Given the description of an element on the screen output the (x, y) to click on. 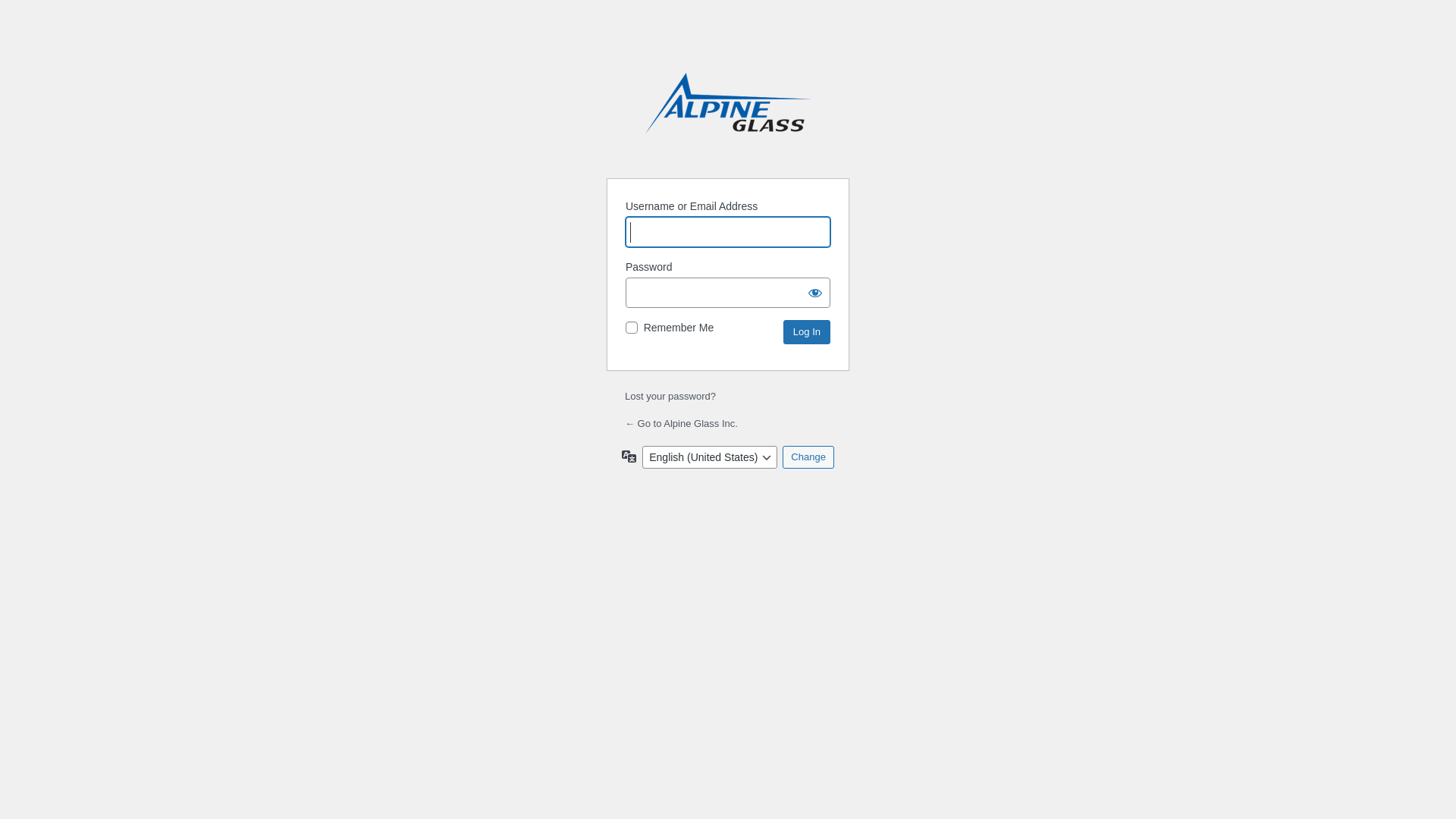
Change Element type: text (808, 456)
Lost your password? Element type: text (669, 395)
Log In Element type: text (806, 332)
Powered by WordPress Element type: text (727, 115)
